Given the description of an element on the screen output the (x, y) to click on. 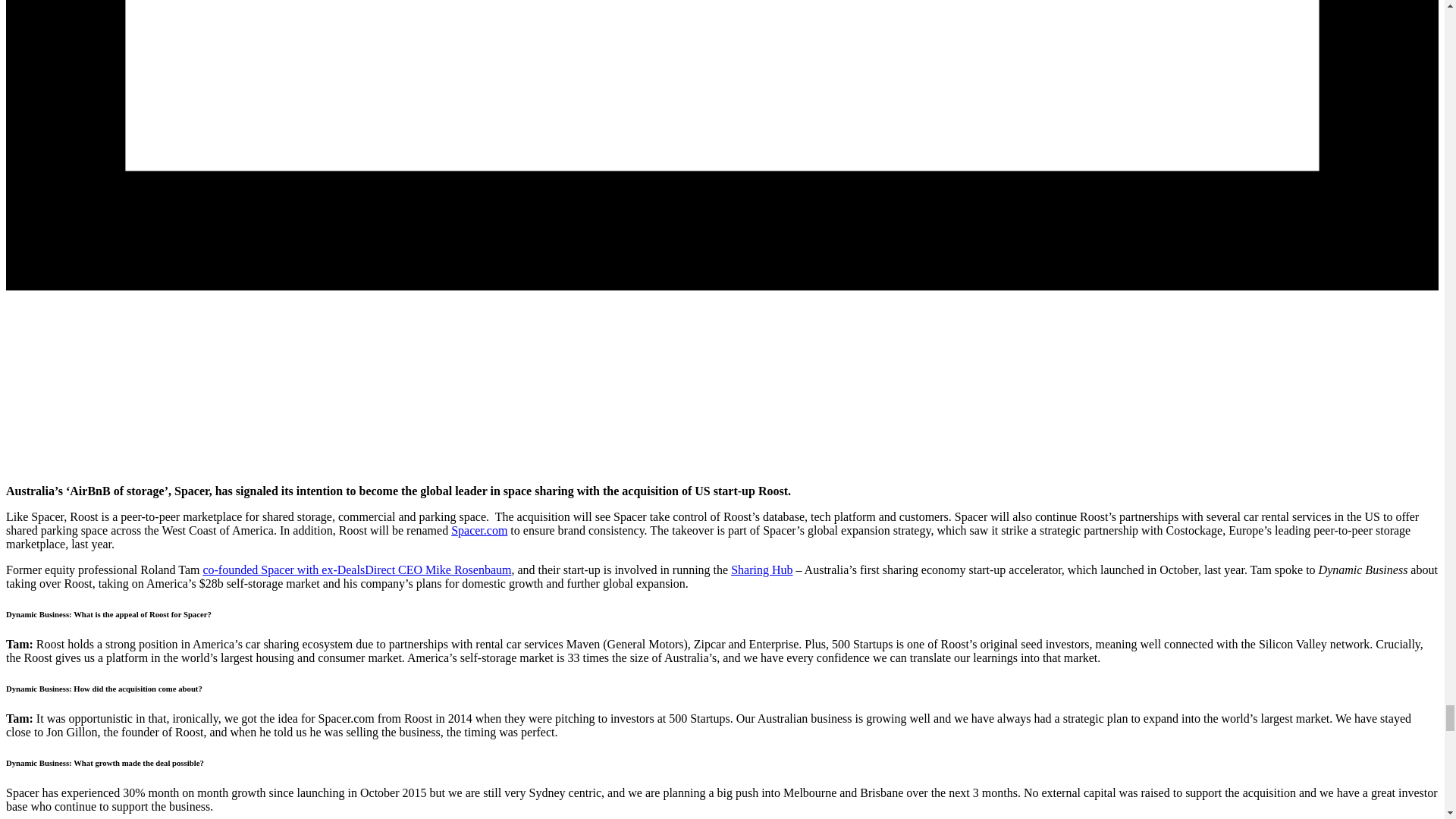
co-founded Spacer with ex-DealsDirect CEO Mike Rosenbaum (356, 569)
Spacer.com (478, 530)
Sharing Hub (761, 569)
